Given the description of an element on the screen output the (x, y) to click on. 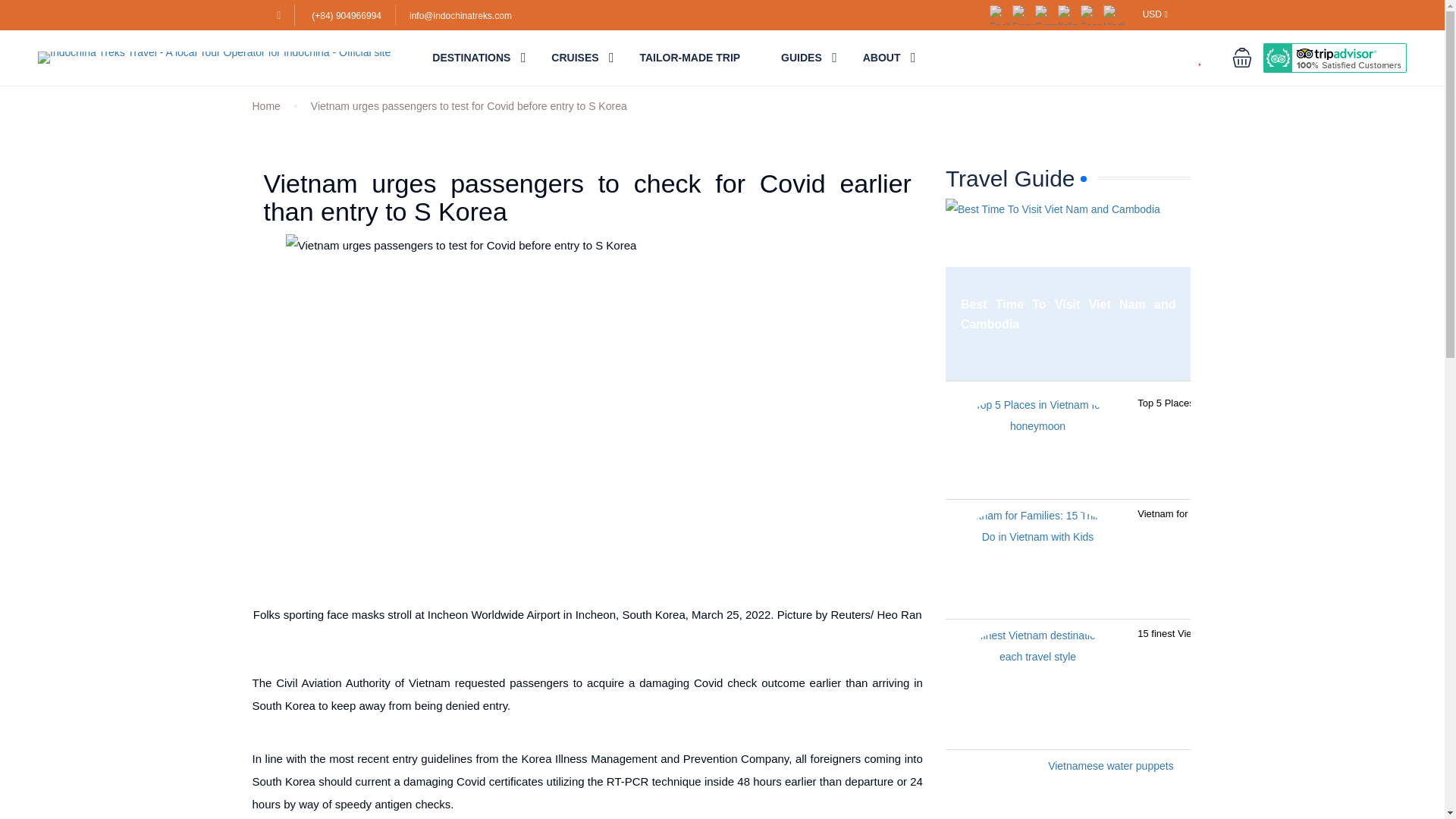
English (1000, 14)
German (1046, 14)
Hindi (1114, 14)
Spanish (1091, 14)
DESTINATIONS (471, 57)
USD (1154, 14)
CRUISES (574, 57)
Italian (1069, 14)
French (1023, 14)
